Given the description of an element on the screen output the (x, y) to click on. 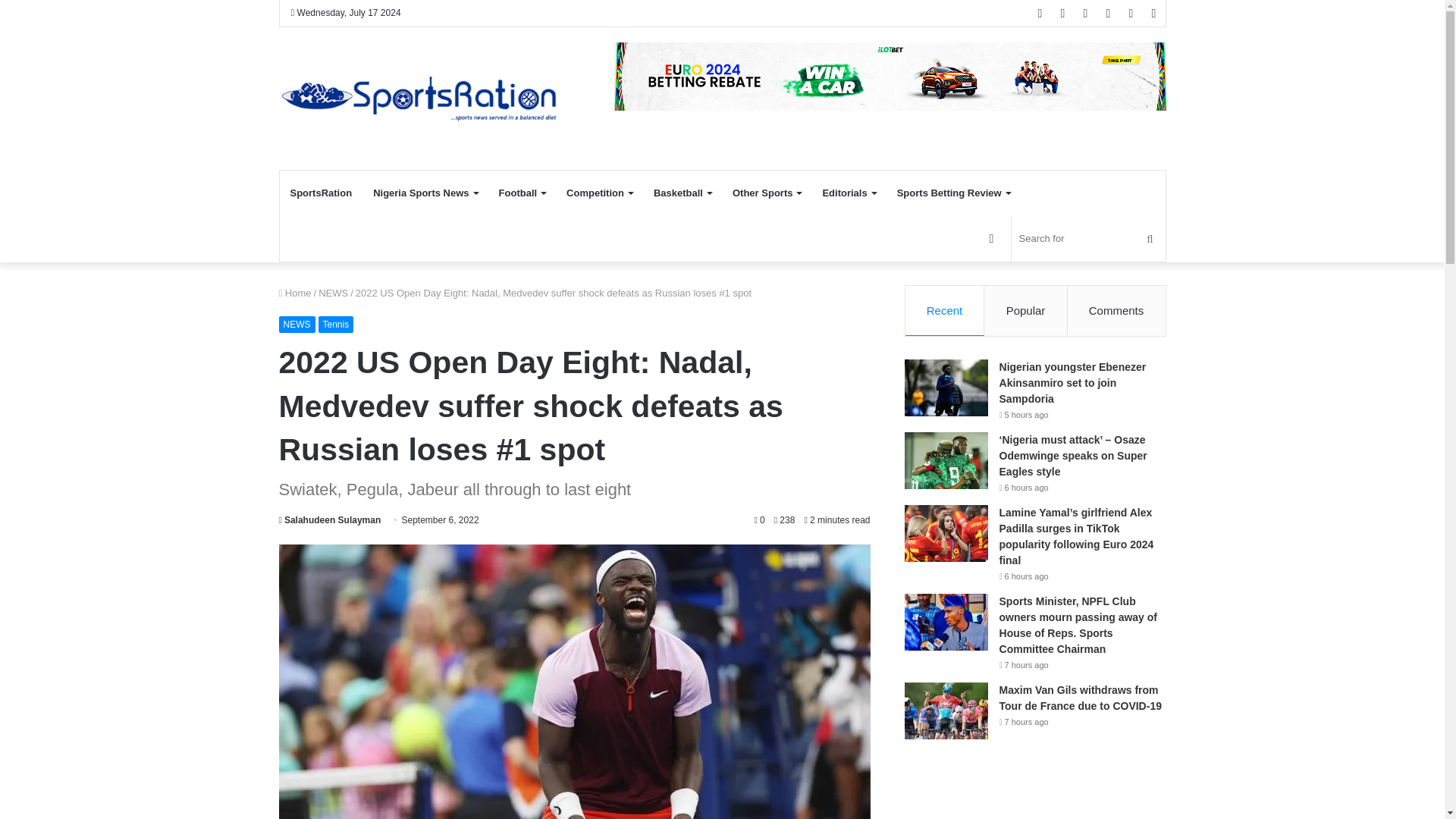
Nigeria Sports News (424, 193)
Salahudeen Sulayman (330, 520)
SportsRation (320, 193)
Search for (1088, 238)
Football (521, 193)
